Given the description of an element on the screen output the (x, y) to click on. 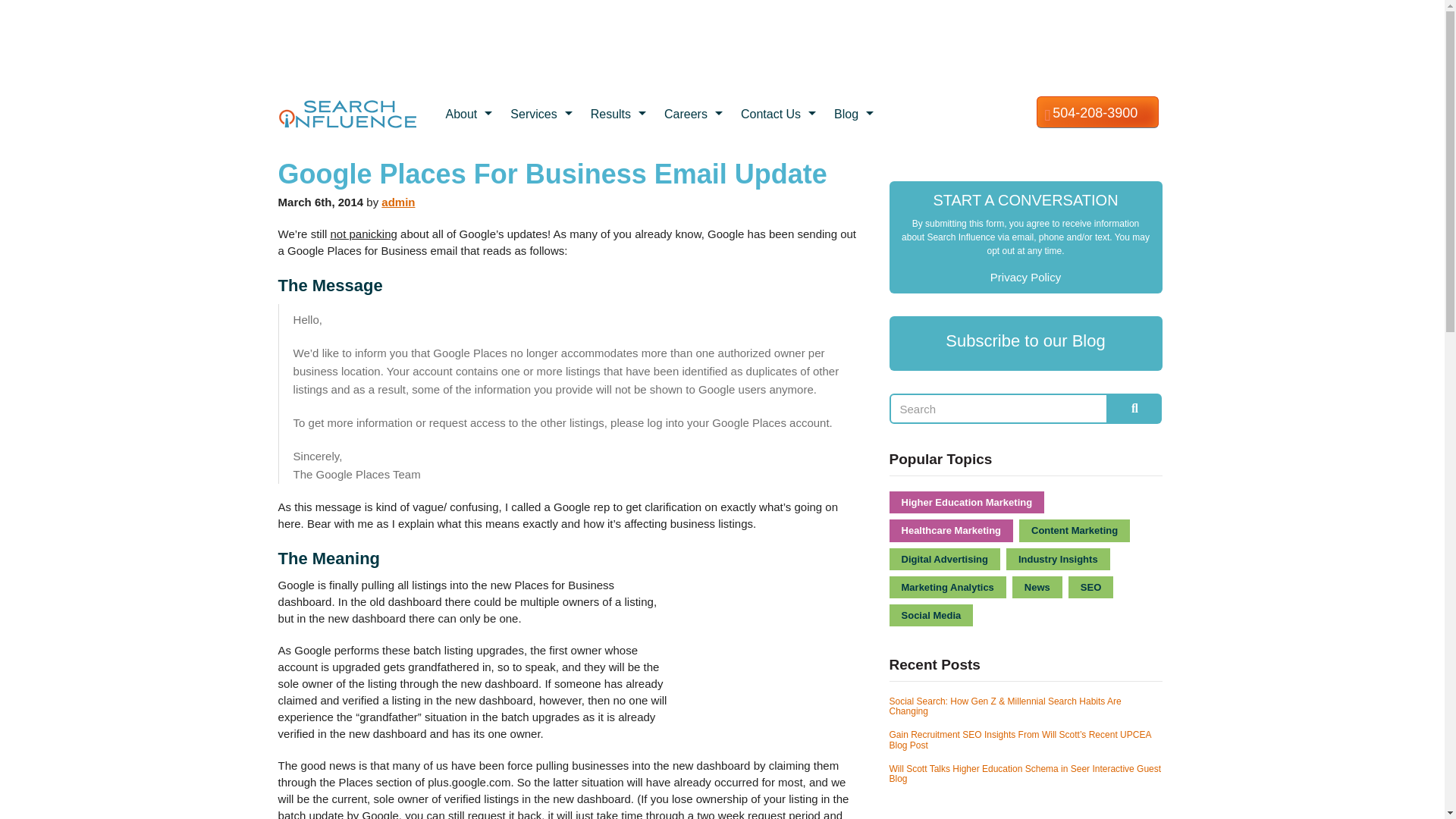
Search (998, 408)
Blog (856, 114)
About (470, 114)
Contact Us (780, 114)
Services (543, 114)
Results (620, 114)
Careers (695, 114)
